Given the description of an element on the screen output the (x, y) to click on. 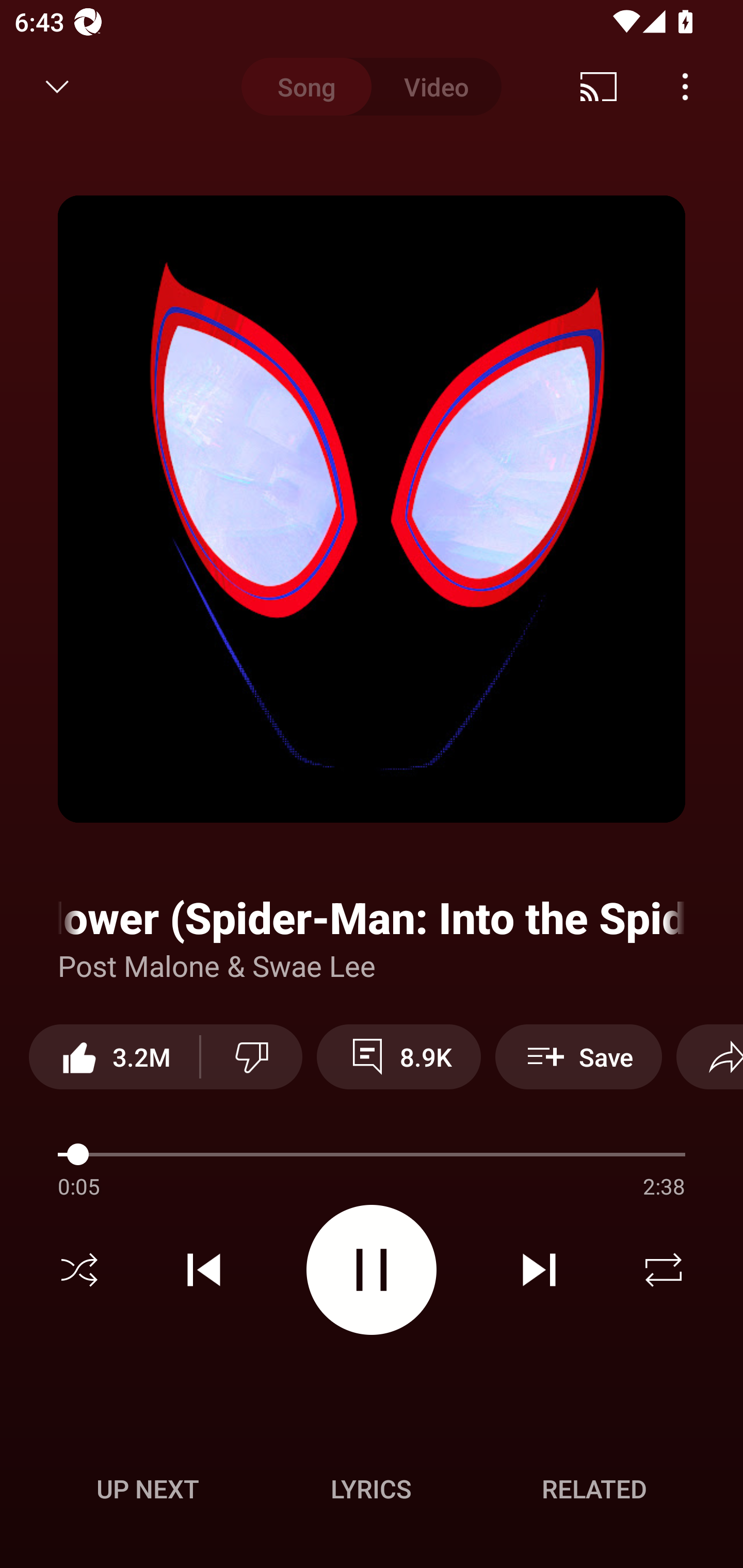
Minimize (57, 86)
Cast. Disconnected (598, 86)
Menu (684, 86)
Dislike (251, 1056)
8.9K View 8,905 comments (398, 1056)
Save Save to playlist (578, 1056)
Share (709, 1056)
Pause video (371, 1269)
Shuffle off (79, 1269)
Previous track (203, 1269)
Next track (538, 1269)
Repeat off (663, 1269)
Up next UP NEXT Lyrics LYRICS Related RELATED (371, 1491)
Lyrics LYRICS (370, 1488)
Related RELATED (594, 1488)
